Given the description of an element on the screen output the (x, y) to click on. 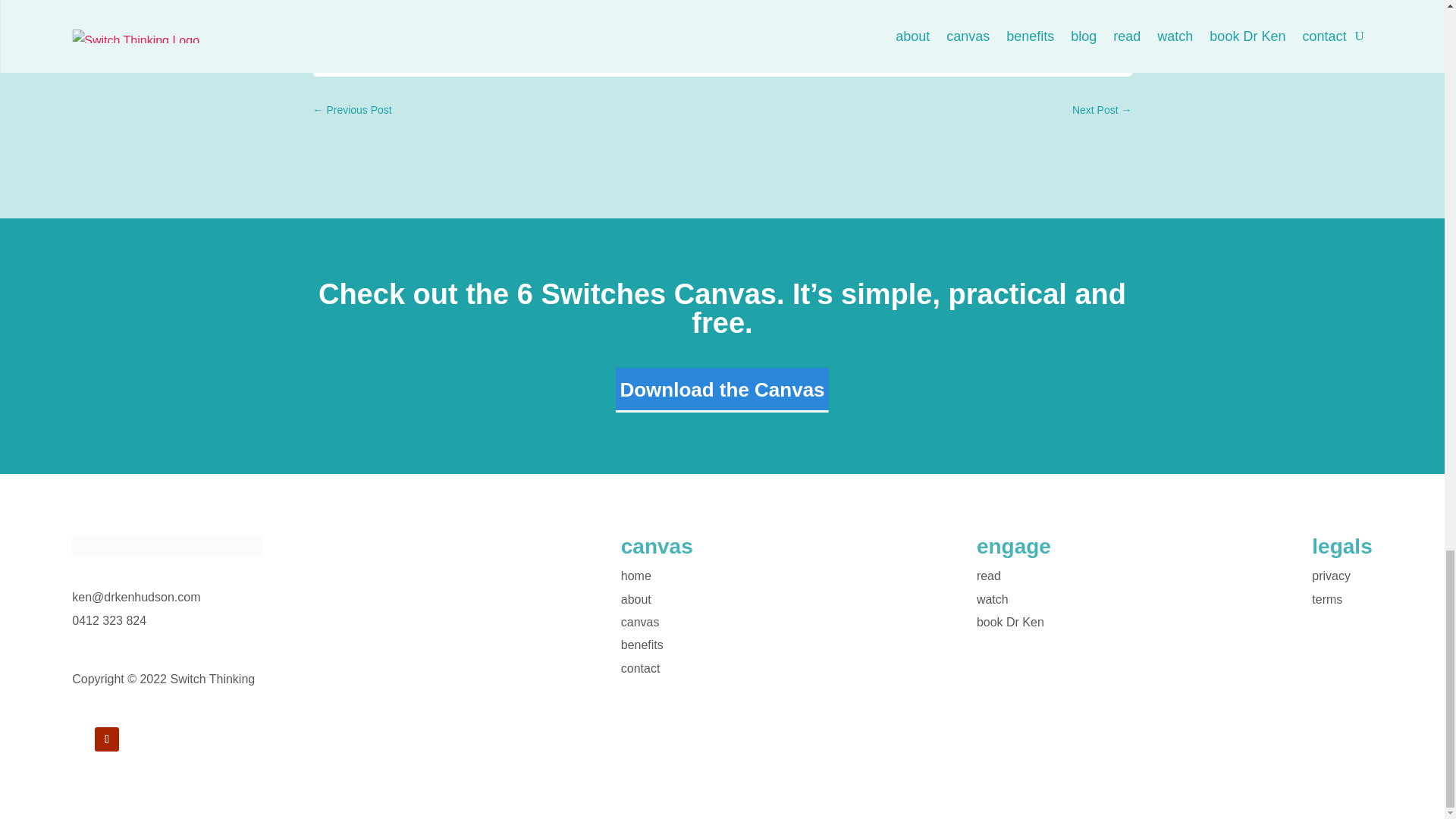
Follow on Youtube (106, 739)
Logo (167, 545)
privacy (1331, 575)
Download the Canvas (721, 390)
book Dr Ken (1009, 621)
terms (1326, 599)
about (635, 599)
read (988, 575)
watch (992, 599)
canvas (640, 621)
benefits (642, 644)
home (635, 575)
0412 323 824 (109, 620)
contact (641, 667)
